Given the description of an element on the screen output the (x, y) to click on. 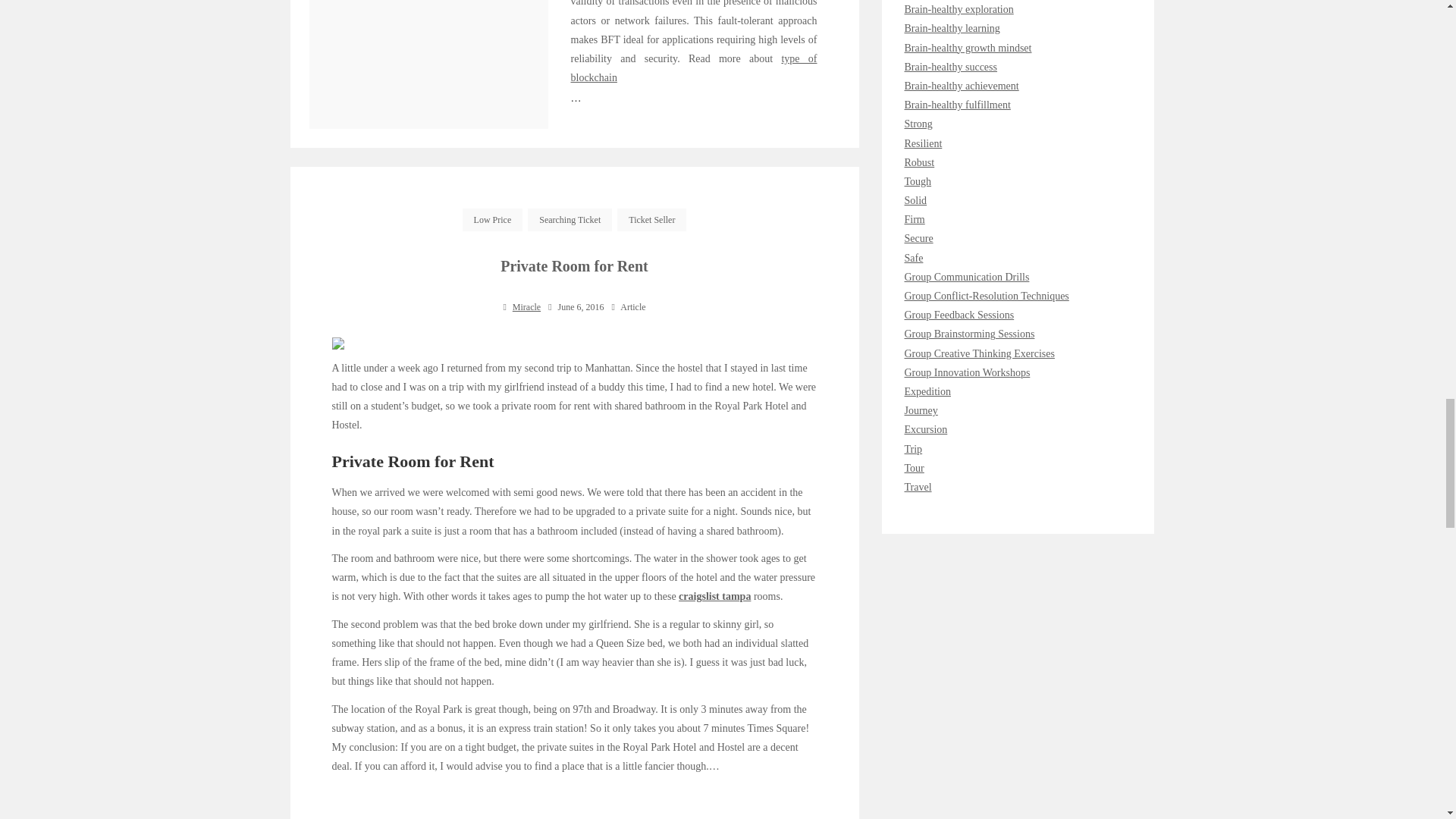
type of blockchain (693, 68)
Low Price (492, 219)
Posts by Miracle (526, 307)
Searching Ticket (569, 219)
